Given the description of an element on the screen output the (x, y) to click on. 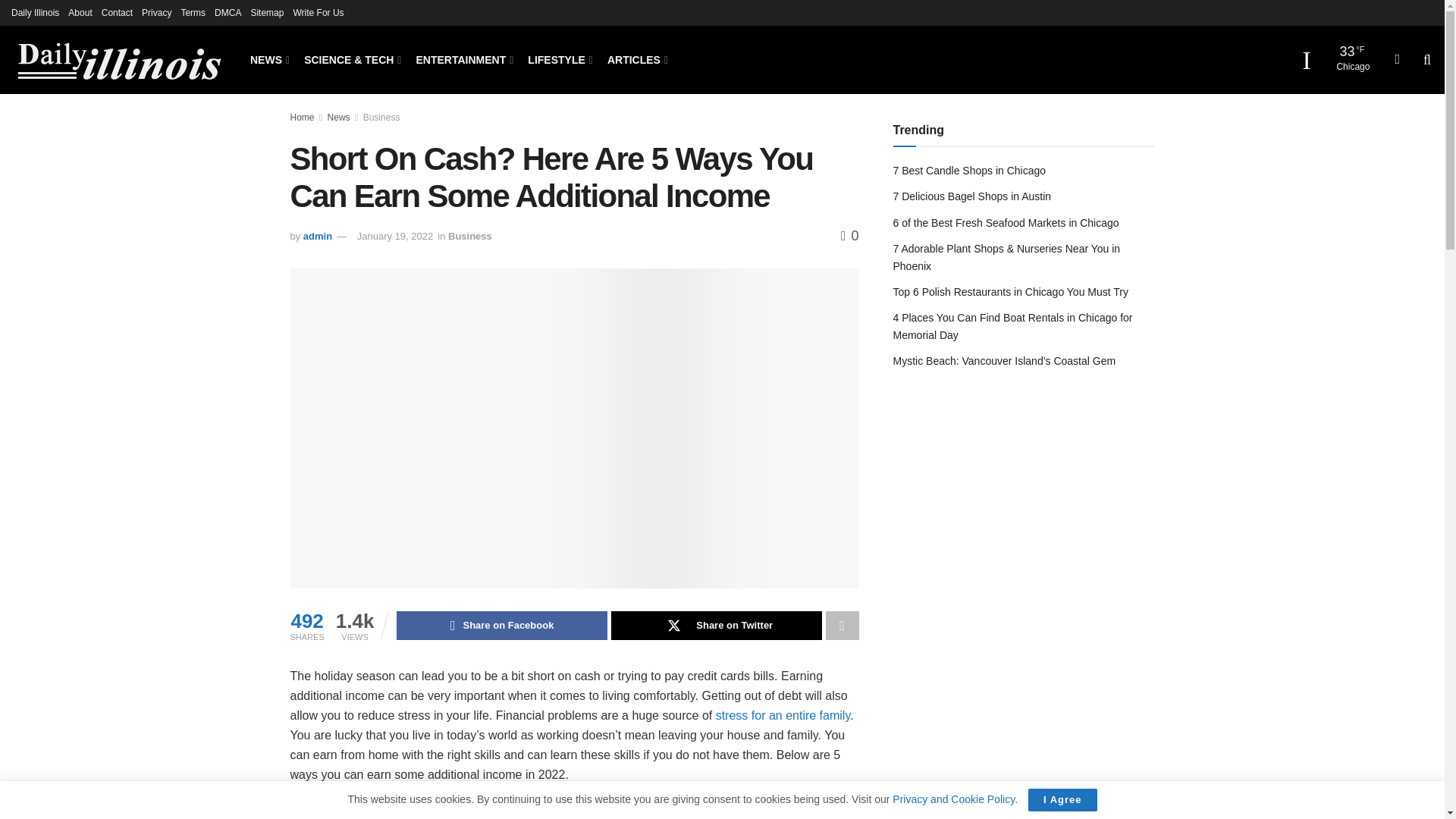
NEWS (268, 59)
Sitemap (266, 12)
Terms (192, 12)
Write For Us (317, 12)
DMCA (227, 12)
About (79, 12)
Privacy (156, 12)
Daily Illinois (35, 12)
Contact (116, 12)
